Given the description of an element on the screen output the (x, y) to click on. 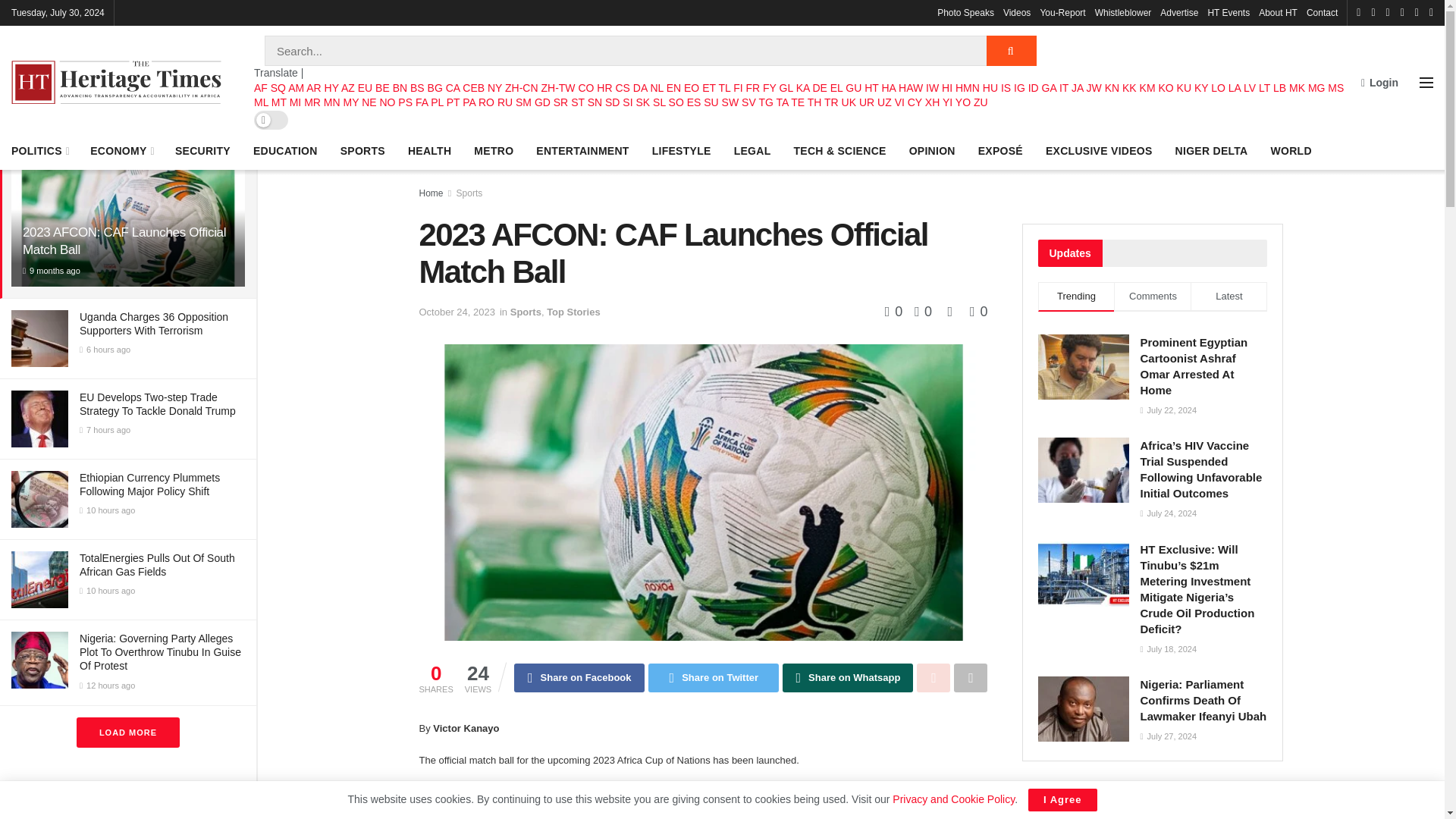
TotalEnergies Pulls Out Of South African Gas Fields (157, 565)
Advertise (1179, 12)
Bulgarian (435, 87)
LOAD MORE (128, 732)
Catalan (452, 87)
Basque (365, 87)
Arabic (312, 87)
Photo Speaks (965, 12)
HT Events (1228, 12)
Amharic (296, 87)
Whistleblower (1122, 12)
Albanian (277, 87)
Videos (1016, 12)
Uganda Charges 36 Opposition Supporters With Terrorism (154, 323)
Afrikaans (260, 87)
